Given the description of an element on the screen output the (x, y) to click on. 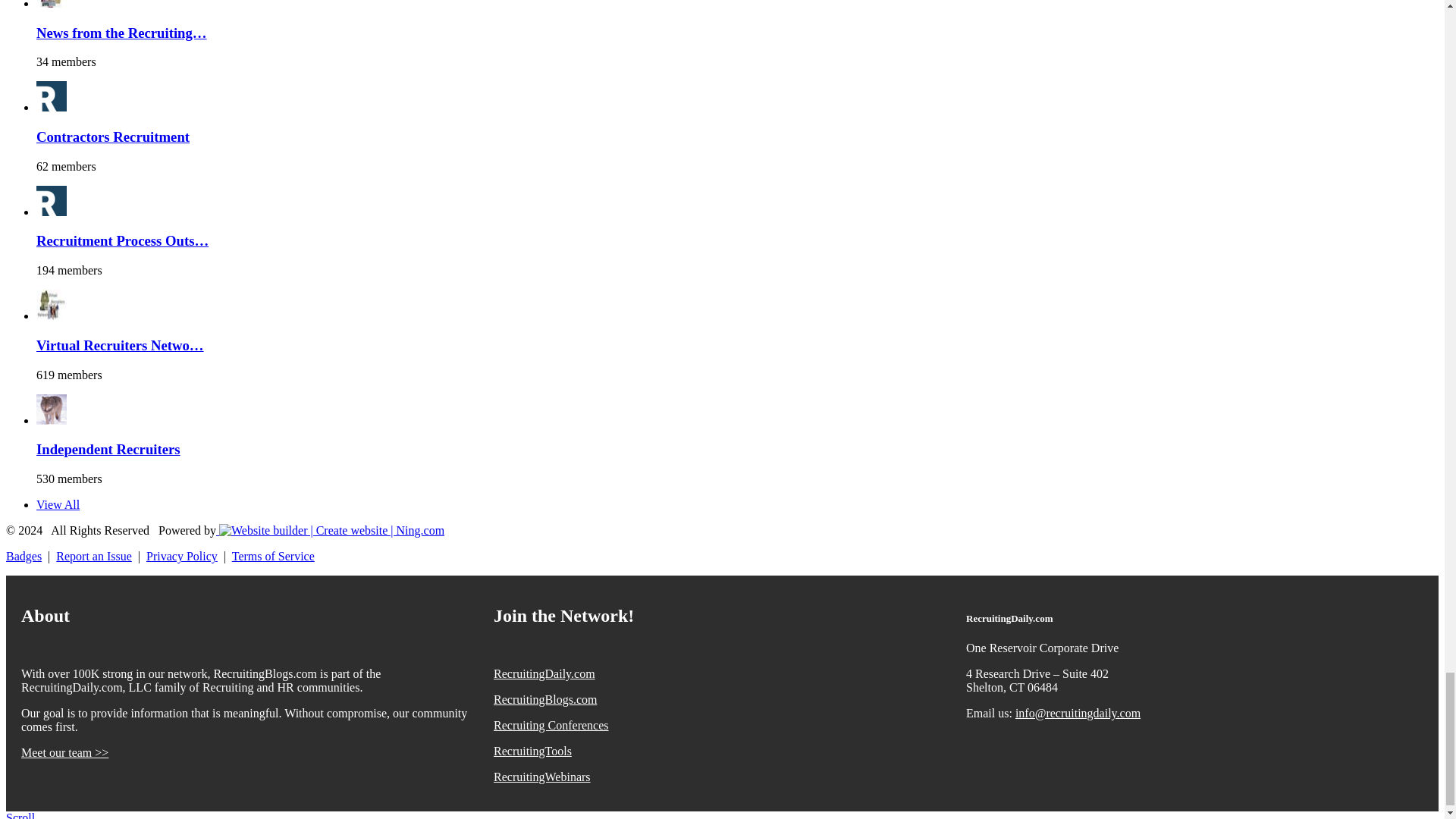
Ning Website Builder (331, 530)
